Given the description of an element on the screen output the (x, y) to click on. 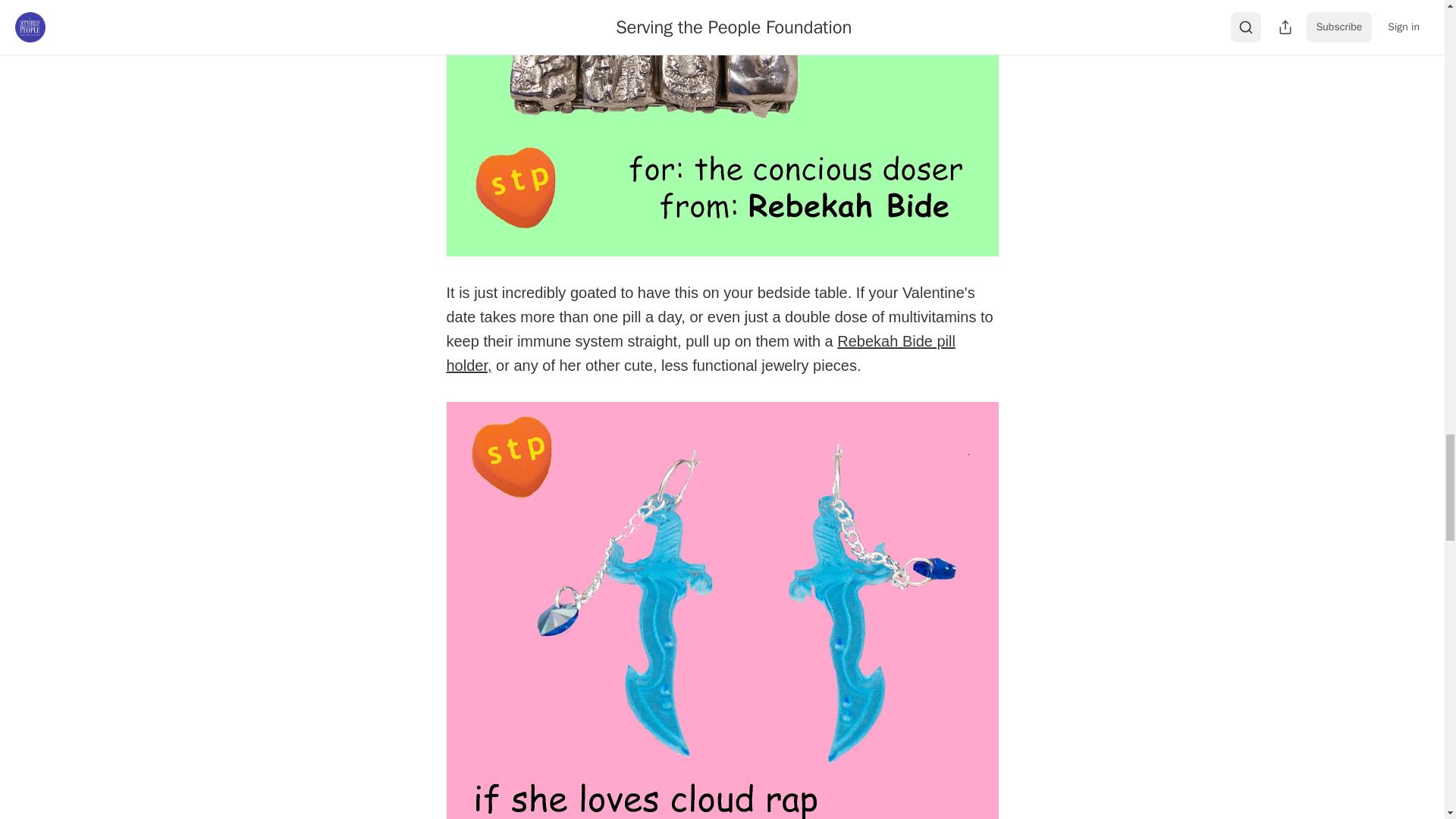
Rebekah Bide pill holder, (700, 352)
